Given the description of an element on the screen output the (x, y) to click on. 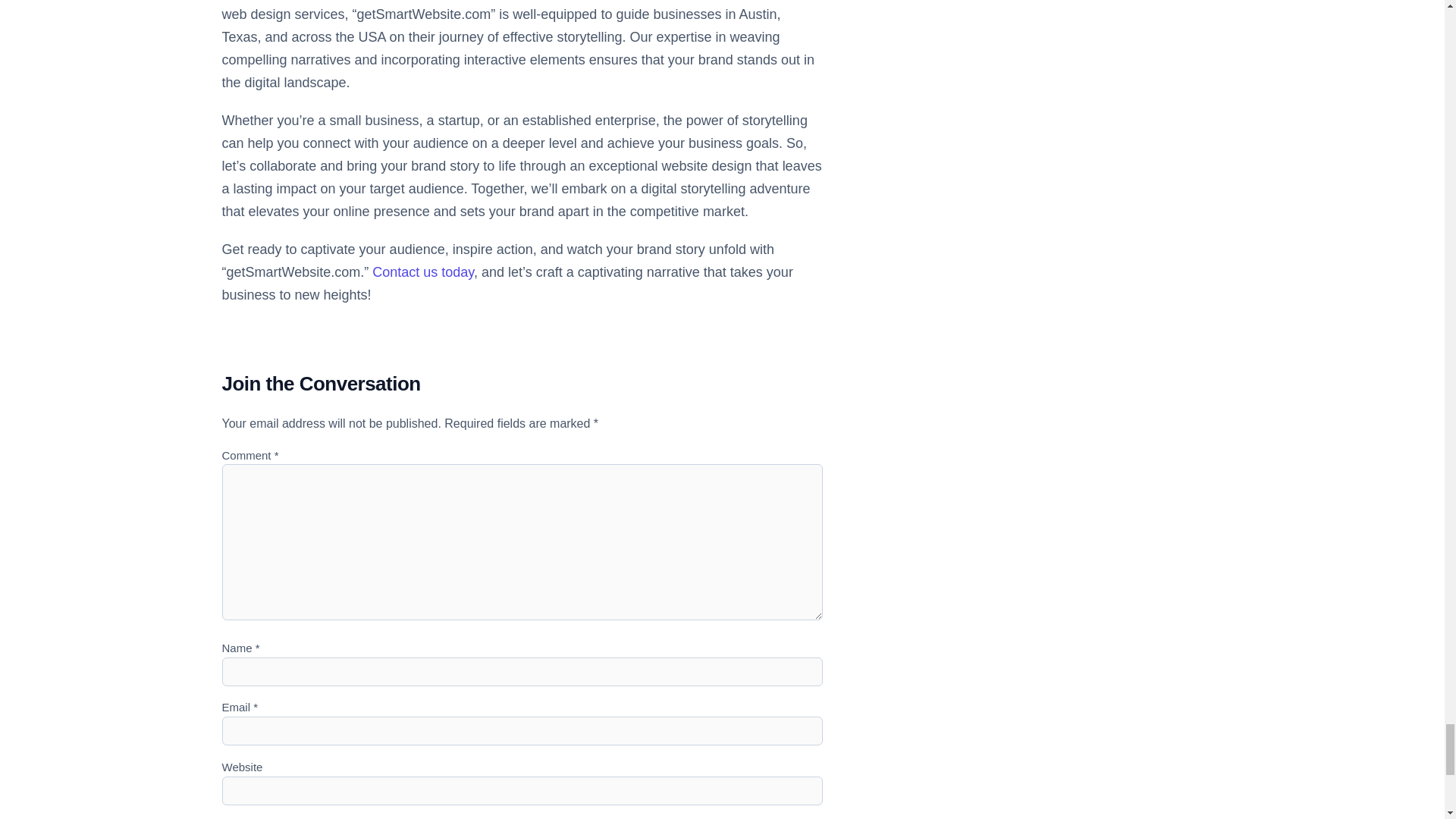
Contact us today (423, 272)
